Given the description of an element on the screen output the (x, y) to click on. 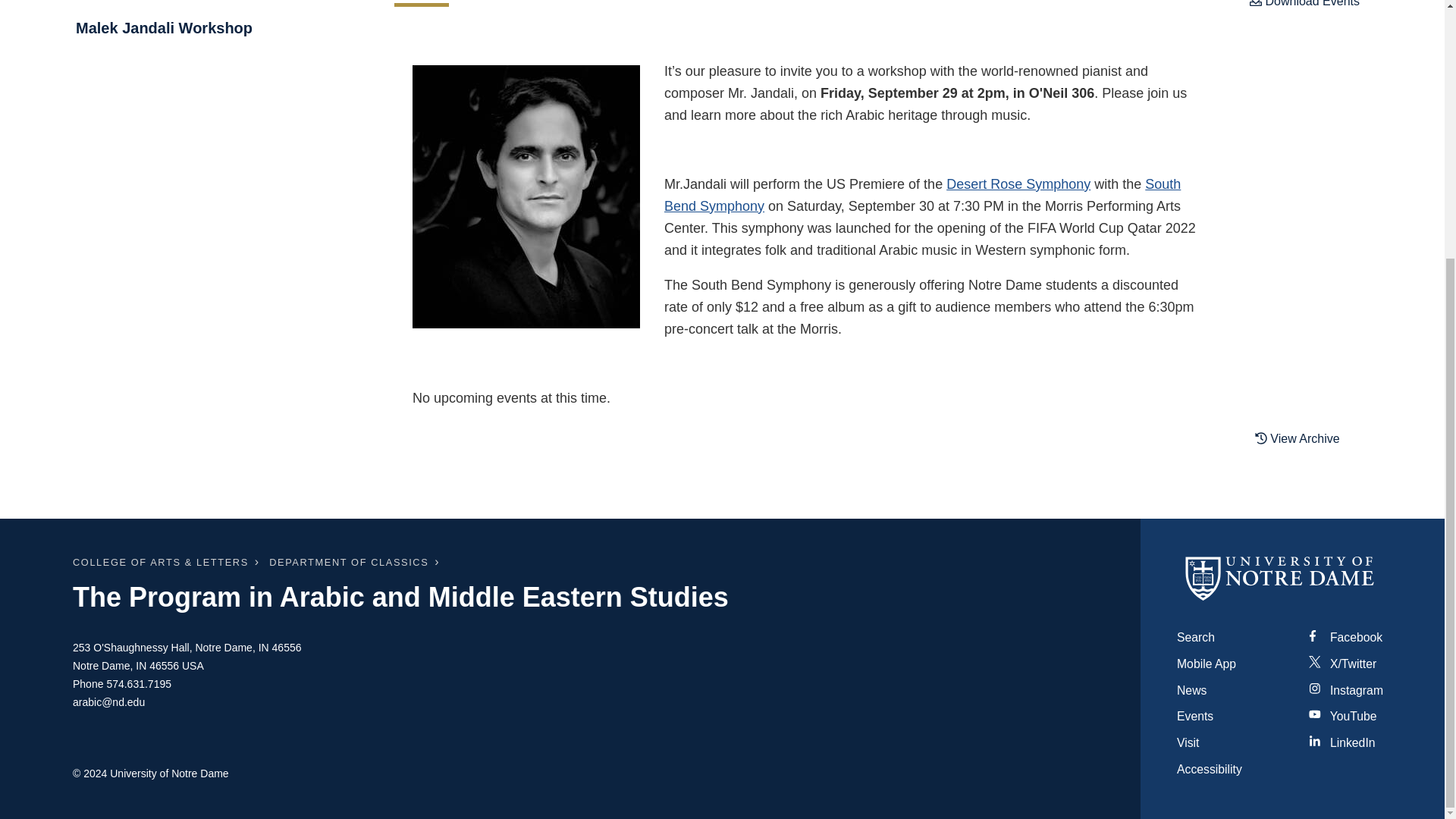
Desert Rose Symphony (1018, 183)
View Archive (1307, 438)
Download Events (1304, 8)
South Bend Symphony (921, 194)
